Given the description of an element on the screen output the (x, y) to click on. 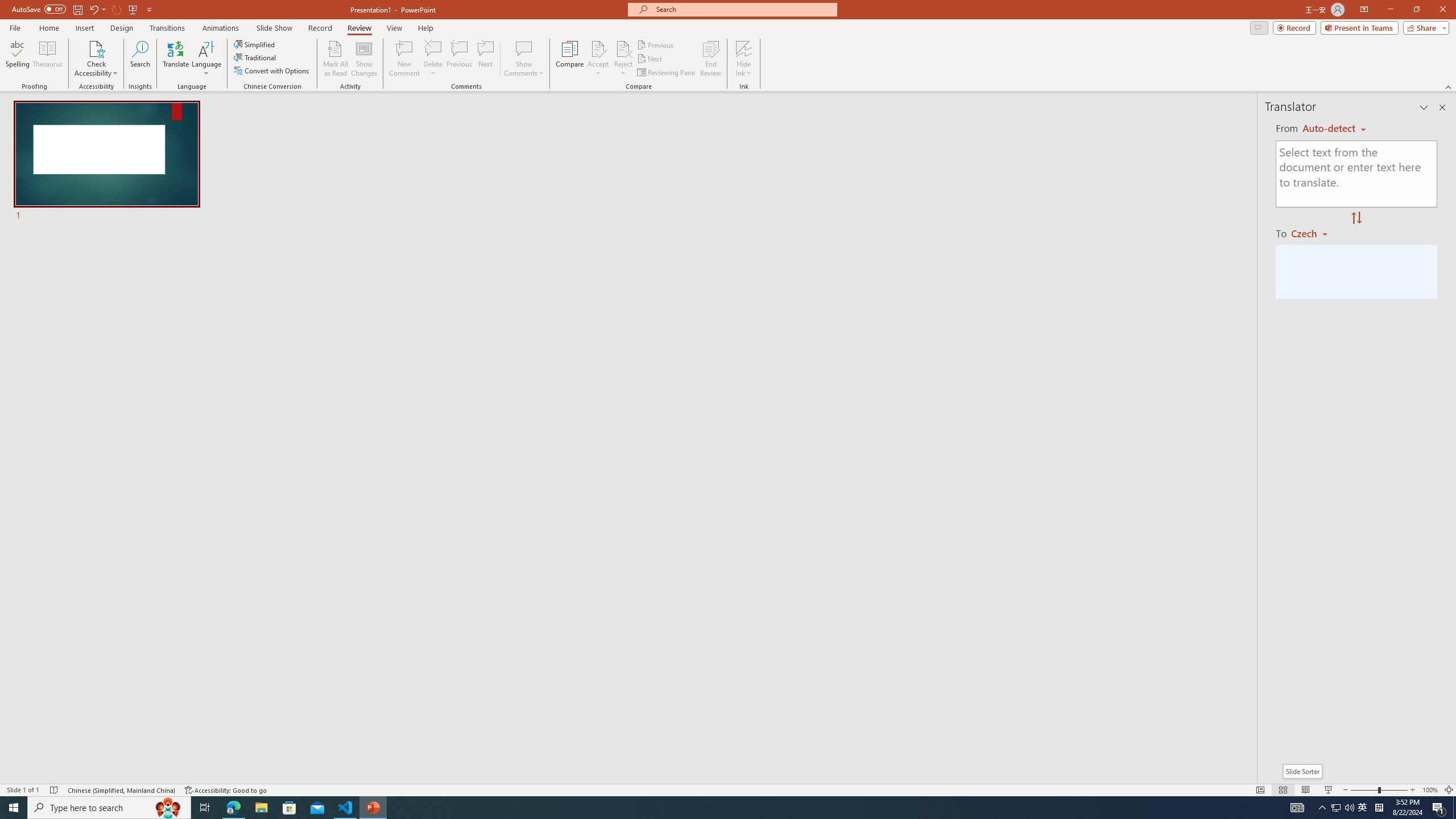
Show Changes (363, 58)
Hide Ink (743, 48)
Delete (432, 58)
Accessibility Checker Accessibility: Good to go (226, 790)
